Given the description of an element on the screen output the (x, y) to click on. 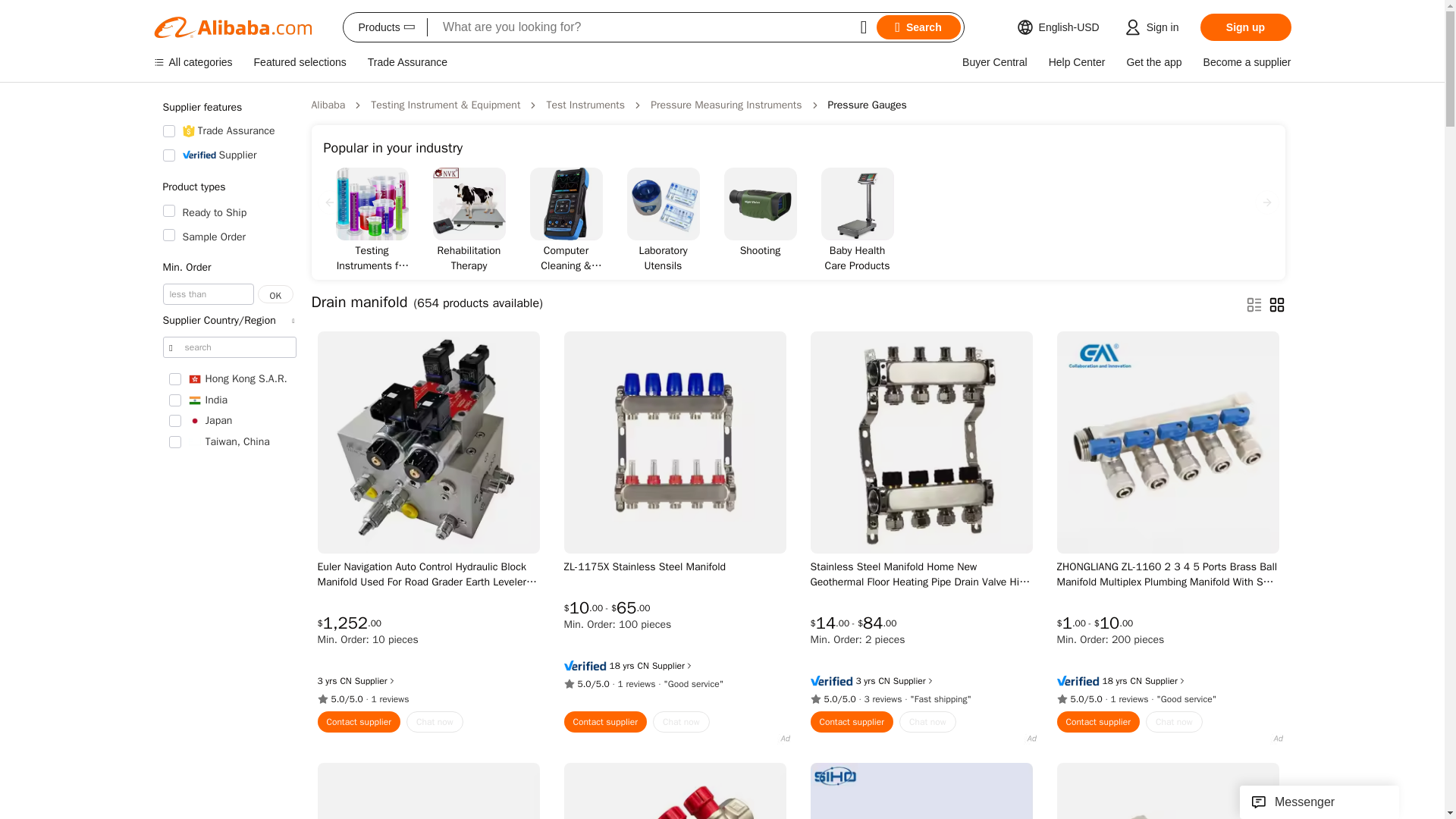
Min. Order (228, 267)
Supplier features (228, 107)
Product types (228, 187)
